Given the description of an element on the screen output the (x, y) to click on. 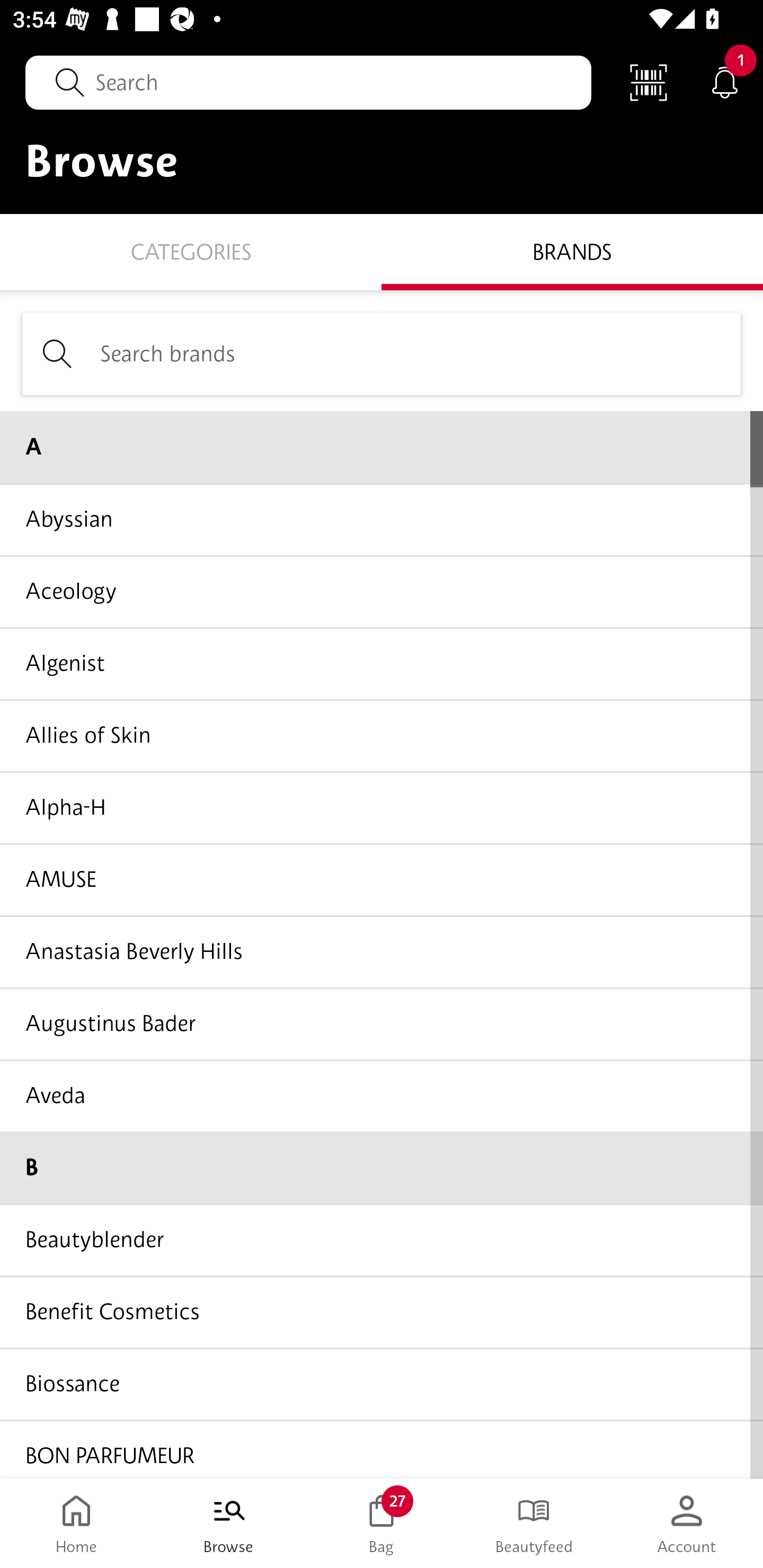
Scan Code (648, 81)
Notifications (724, 81)
Search (308, 81)
Categories CATEGORIES (190, 251)
Search brands (381, 353)
A (381, 446)
Abyssian (381, 518)
Aceology (381, 591)
Algenist (381, 663)
Allies of Skin (381, 735)
Alpha-H (381, 807)
AMUSE (381, 879)
Anastasia Beverly Hills (381, 951)
Augustinus Bader (381, 1023)
Aveda (381, 1095)
B (381, 1168)
Beautyblender (381, 1240)
Benefit Cosmetics (381, 1311)
Biossance (381, 1382)
BON PARFUMEUR (381, 1448)
Home (76, 1523)
Bag 27 Bag (381, 1523)
Beautyfeed (533, 1523)
Account (686, 1523)
